Given the description of an element on the screen output the (x, y) to click on. 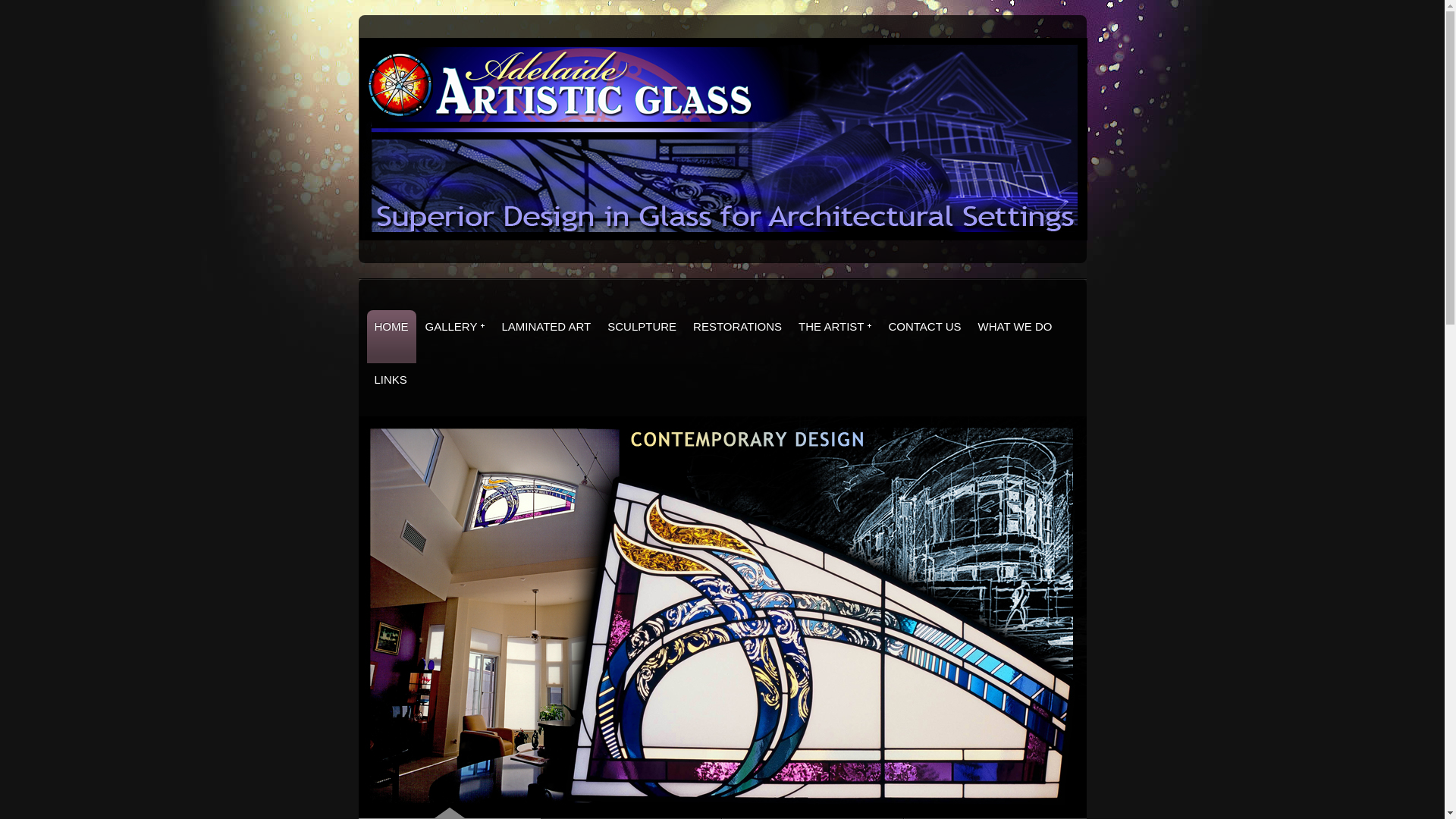
GALLERY Element type: text (454, 336)
CONTACT US Element type: text (924, 336)
HOME Element type: text (391, 336)
THE ARTIST Element type: text (834, 336)
LINKS Element type: text (390, 389)
LAMINATED ART Element type: text (545, 336)
RESTORATIONS Element type: text (737, 336)
SCULPTURE Element type: text (641, 336)
WHAT WE DO Element type: text (1015, 336)
